Given the description of an element on the screen output the (x, y) to click on. 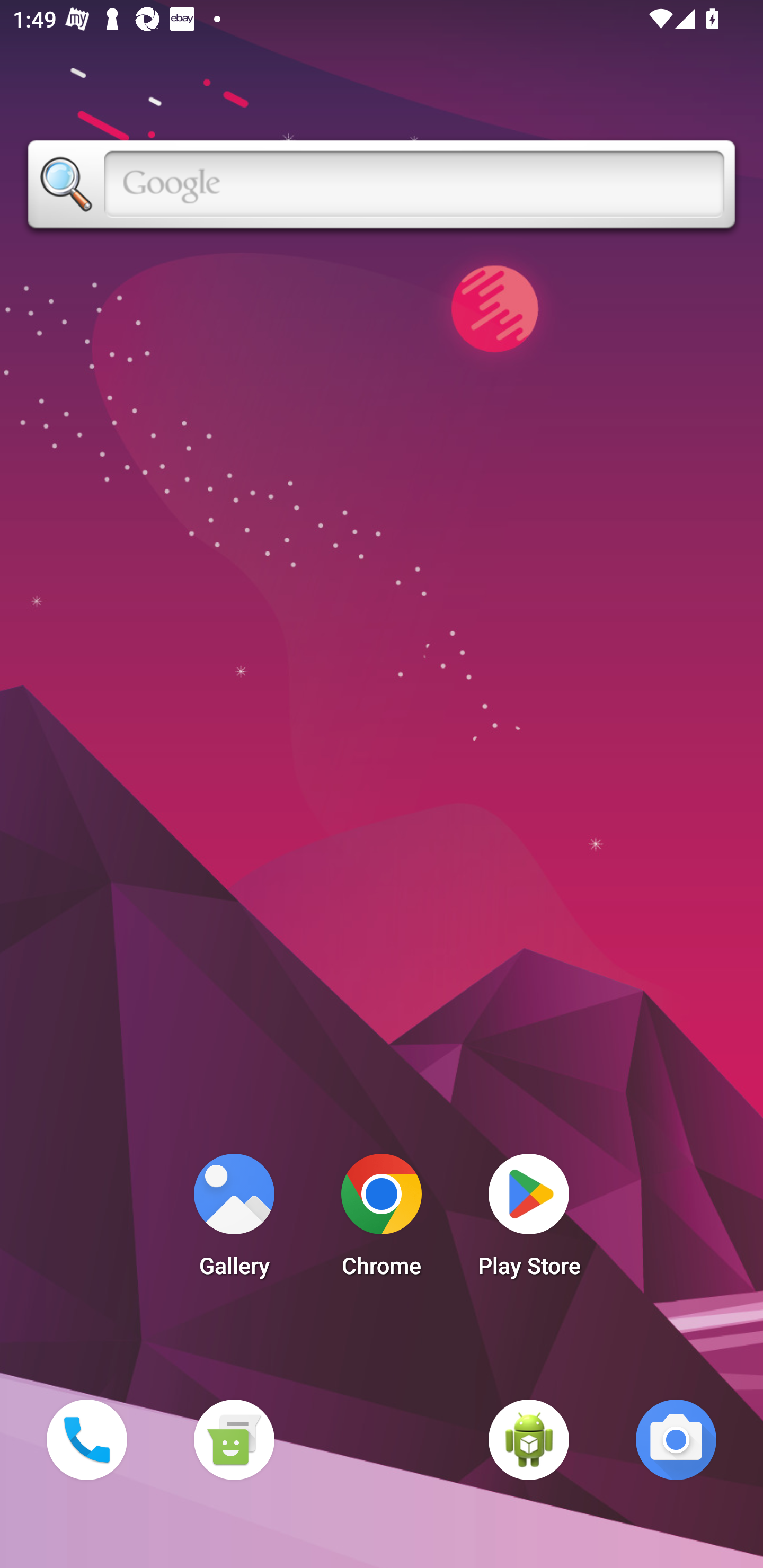
Gallery (233, 1220)
Chrome (381, 1220)
Play Store (528, 1220)
Phone (86, 1439)
Messaging (233, 1439)
WebView Browser Tester (528, 1439)
Camera (676, 1439)
